Given the description of an element on the screen output the (x, y) to click on. 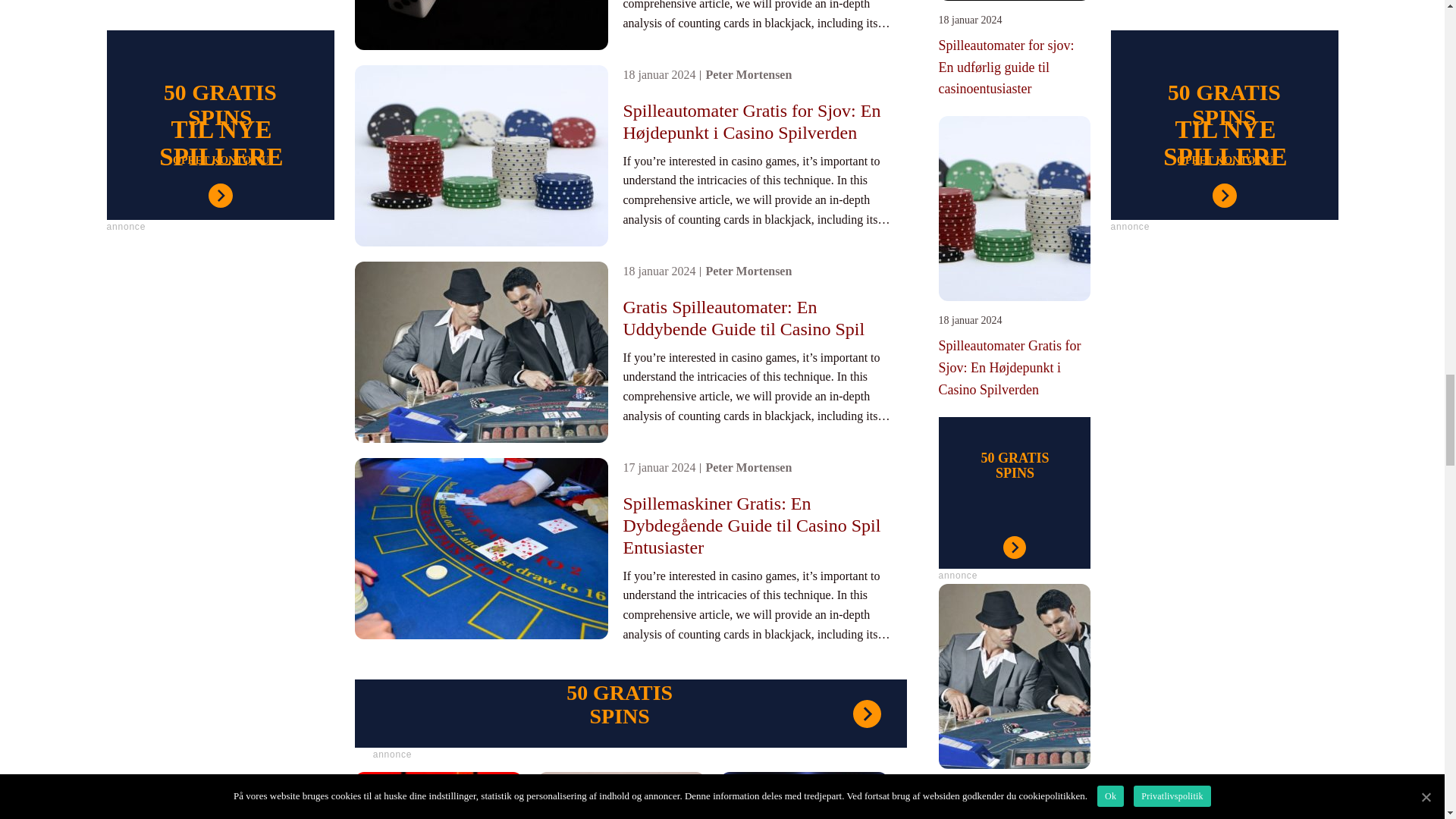
Gratis Spilleautomater: En Uddybende Guide til Casino Spil (757, 318)
Click me! (976, 575)
Click me! (1014, 492)
Click me! (631, 713)
Click me! (392, 754)
